Given the description of an element on the screen output the (x, y) to click on. 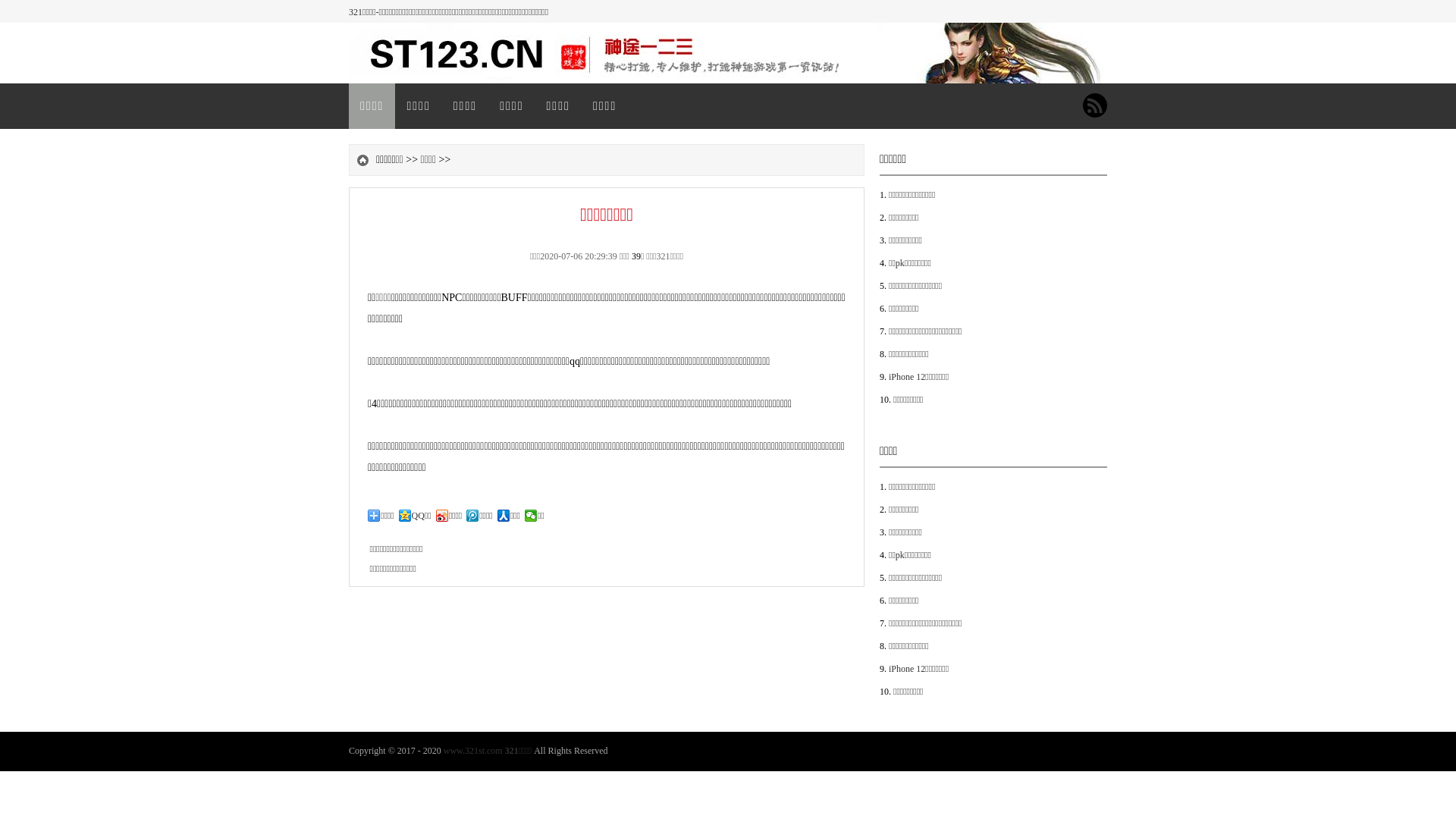
www.321st.com Element type: text (472, 750)
